Given the description of an element on the screen output the (x, y) to click on. 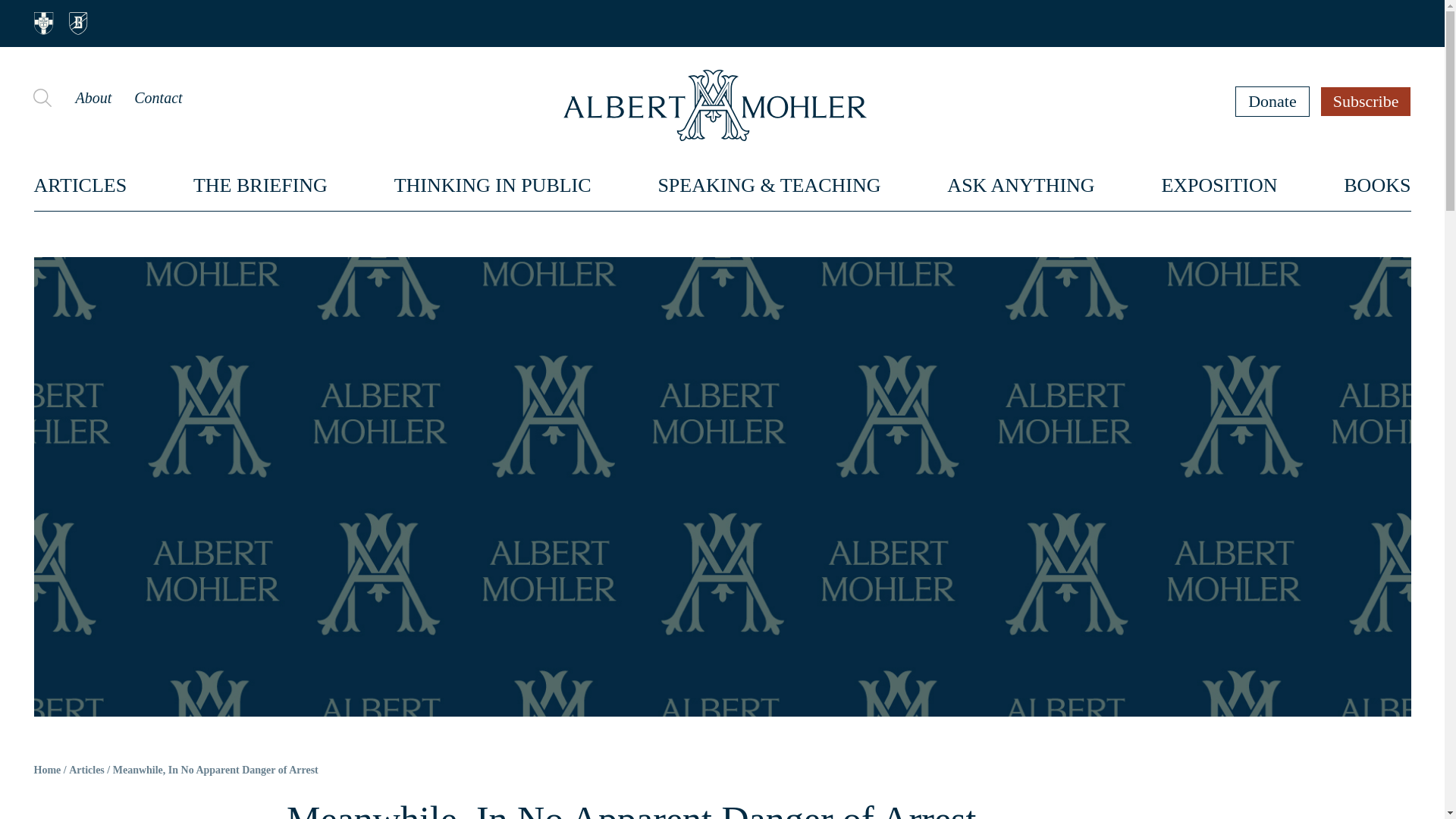
BOOKS (1376, 185)
THINKING IN PUBLIC (492, 185)
Articles (86, 770)
Donate (1272, 101)
EXPOSITION (1218, 185)
Contact (157, 97)
Subscribe (1366, 101)
About (93, 97)
ASK ANYTHING (1020, 185)
Home (47, 770)
THE BRIEFING (260, 185)
ARTICLES (79, 185)
